Given the description of an element on the screen output the (x, y) to click on. 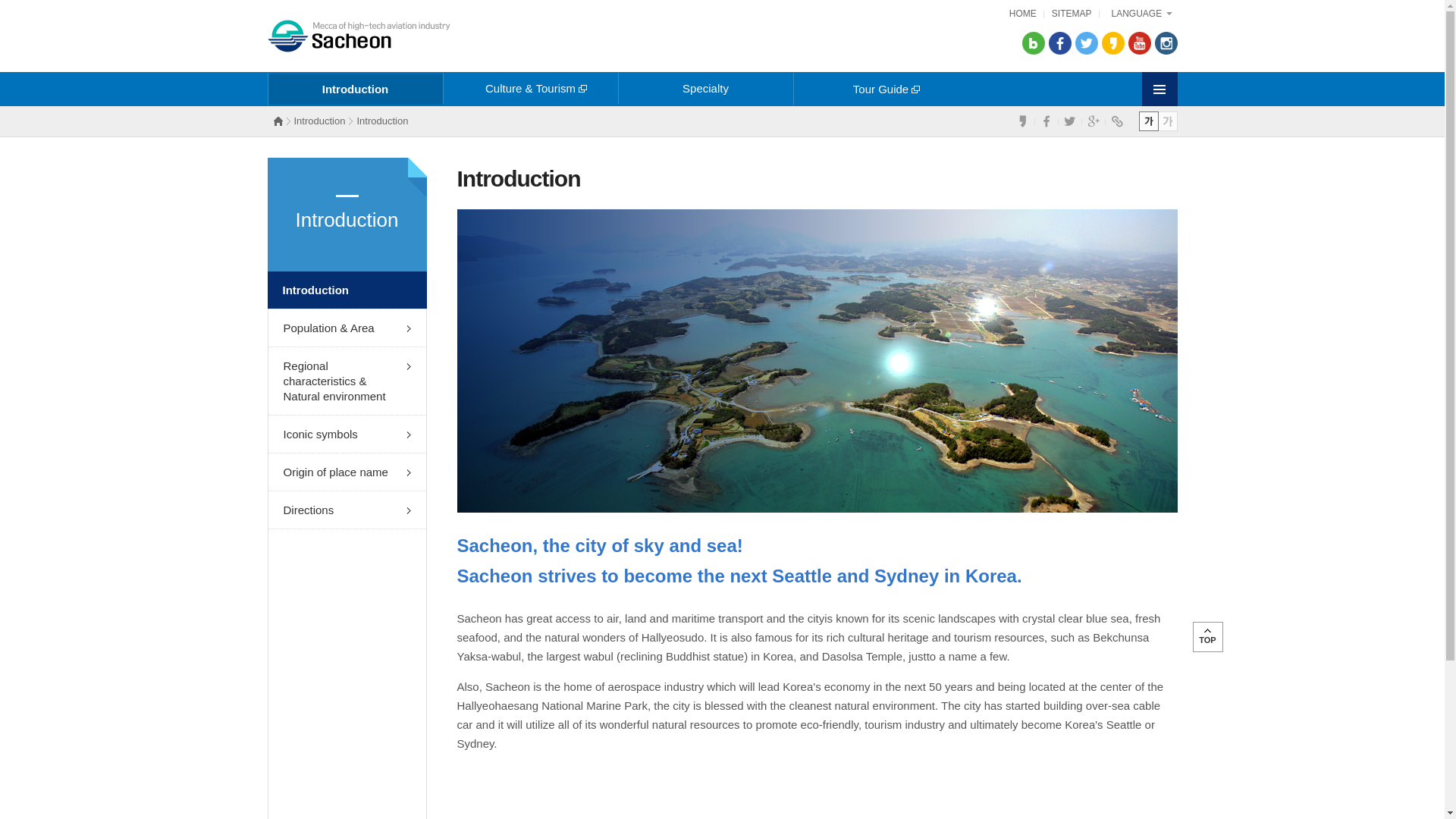
Introduction (354, 89)
New Window (1139, 42)
SITEMAP (1071, 14)
New Window (1033, 42)
Go Home (357, 35)
New Window (1112, 42)
New Window (1165, 42)
New Window (1086, 42)
HOME (1022, 14)
Specialty (704, 88)
LANGUAGE (1141, 13)
New Window (1059, 42)
